Given the description of an element on the screen output the (x, y) to click on. 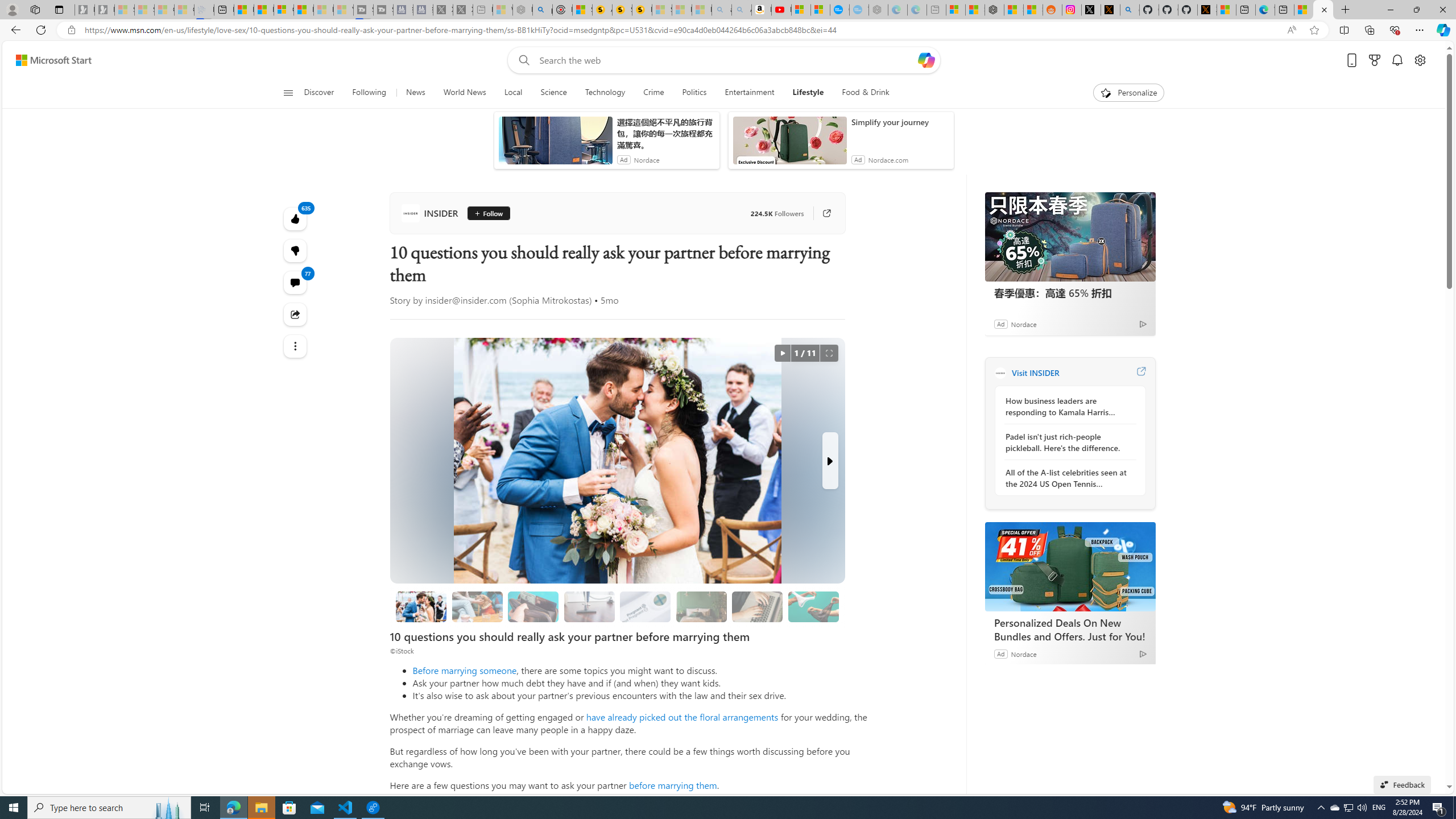
Wildlife - MSN - Sleeping (501, 9)
Nordace - Duffels (994, 9)
Follow (487, 213)
github - Search (1129, 9)
Opinion: Op-Ed and Commentary - USA TODAY (839, 9)
